Given the description of an element on the screen output the (x, y) to click on. 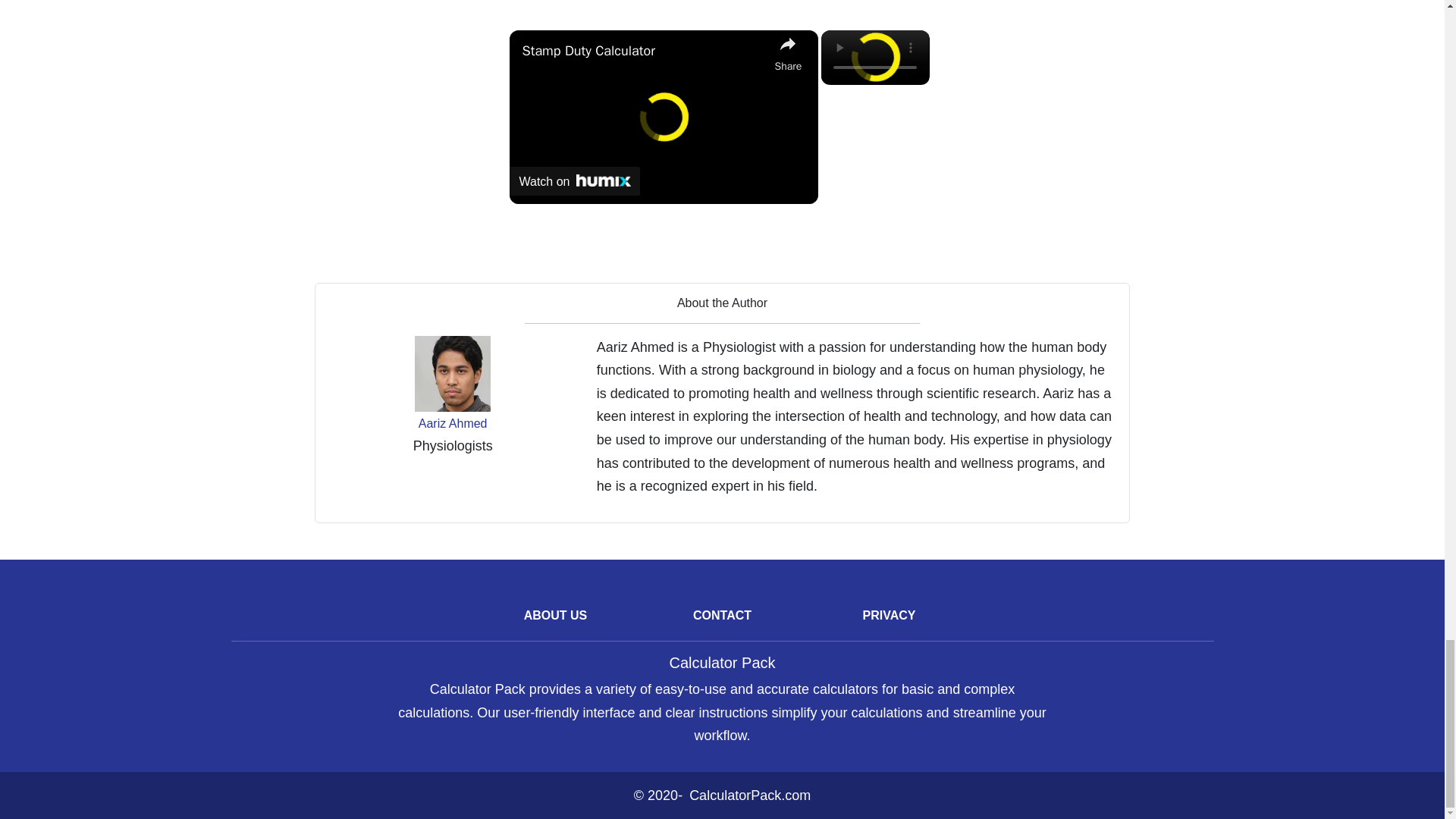
Watch on (574, 181)
ABOUT US (556, 615)
Stamp Duty Calculator (644, 51)
CONTACT (722, 615)
PRIVACY (889, 615)
